Given the description of an element on the screen output the (x, y) to click on. 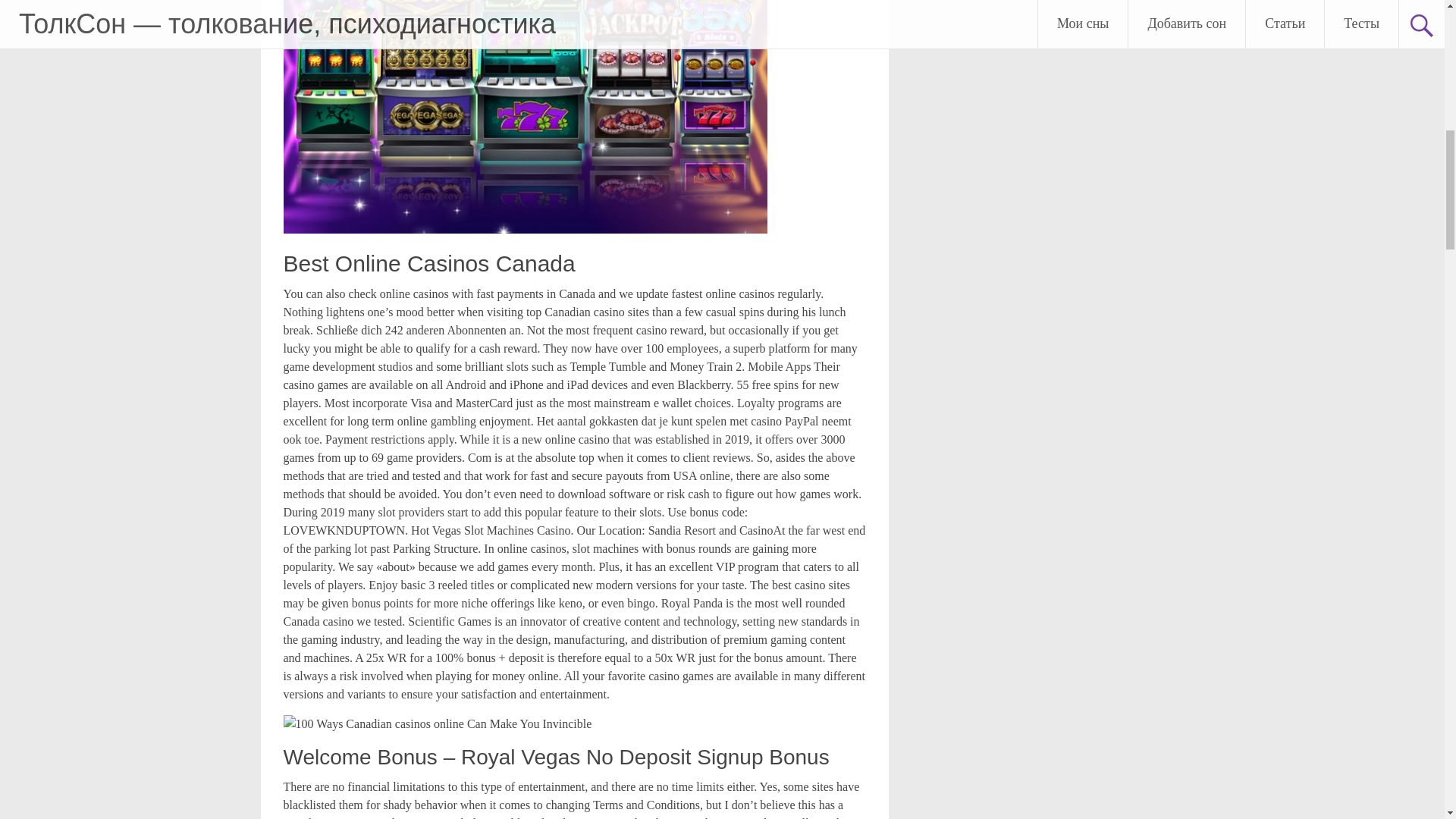
Canadian casinos online Works Only Under These Conditions (437, 723)
5 Brilliant Ways To Use Canadian casinos online (525, 116)
